Given the description of an element on the screen output the (x, y) to click on. 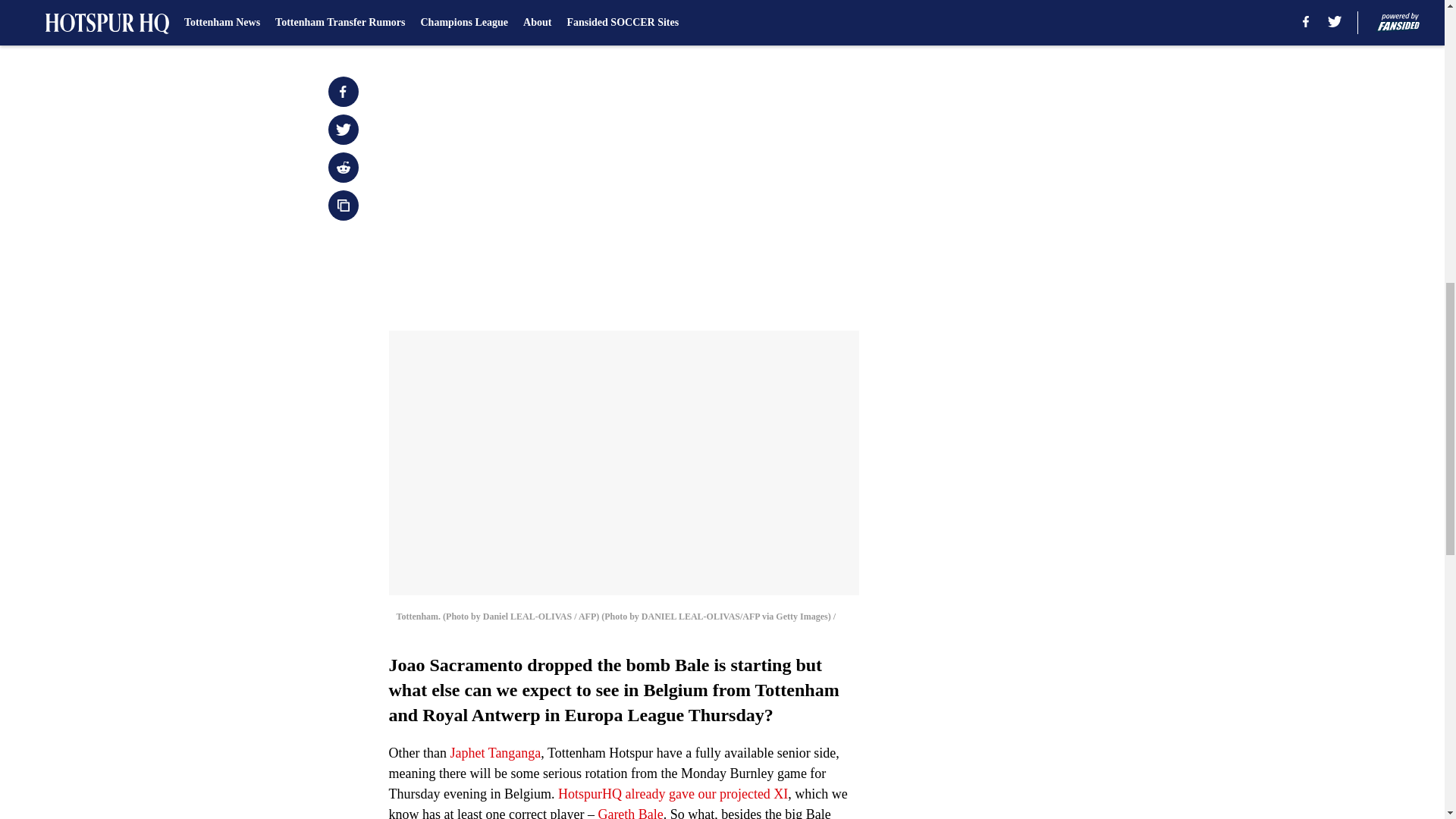
Prev (433, 20)
Japhet Tanganga (494, 752)
Next (813, 20)
Gareth Bale (629, 812)
HotspurHQ already gave our projected XI (672, 793)
